Given the description of an element on the screen output the (x, y) to click on. 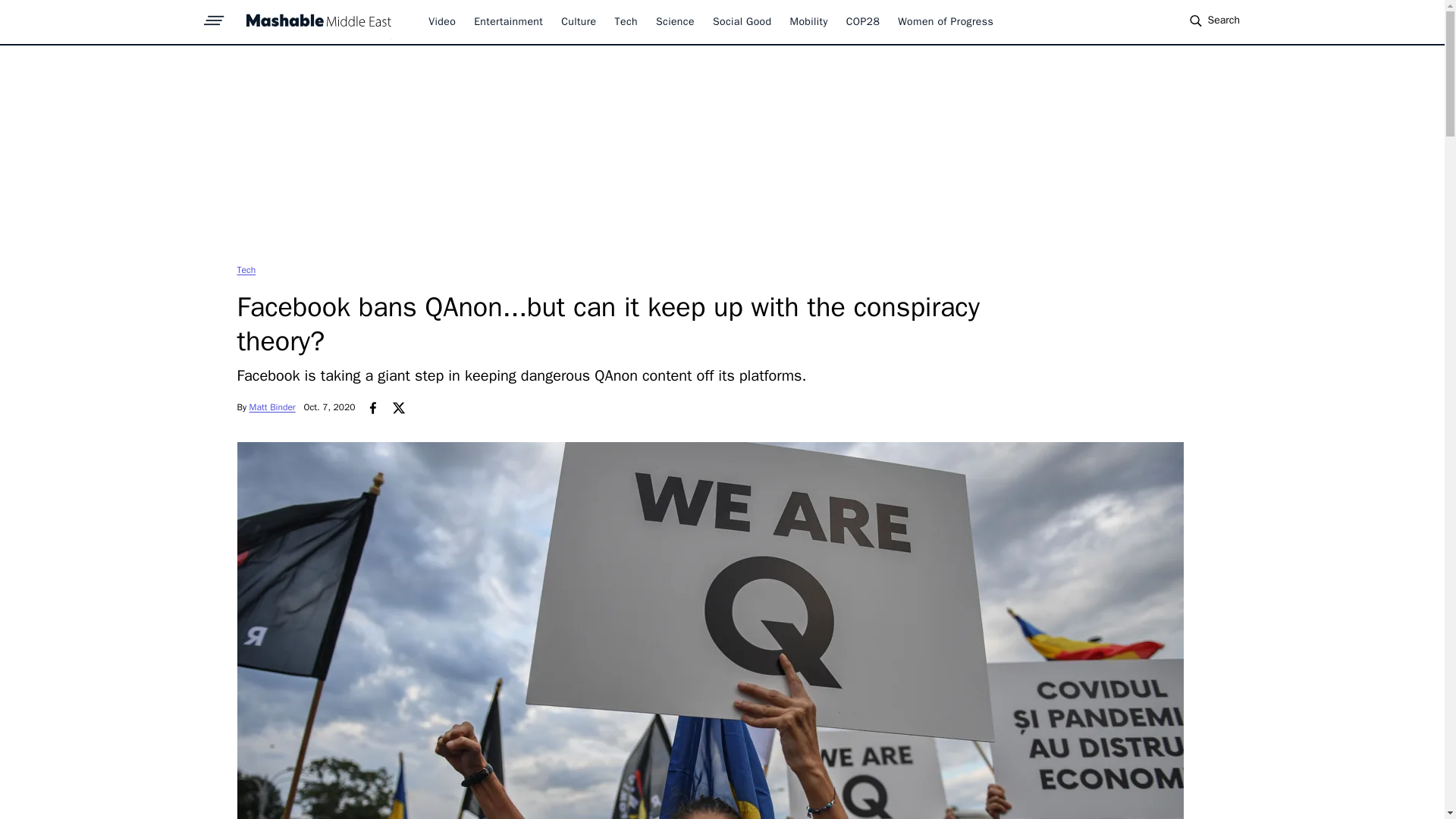
Tech (245, 269)
COP28 (862, 21)
Culture (577, 21)
Matt Binder (271, 407)
Mobility (809, 21)
Tech (245, 269)
Social Good (742, 21)
sprite-hamburger (213, 16)
Tech (625, 21)
Science (675, 21)
Women of Progress (945, 21)
Video (441, 21)
Entertainment (508, 21)
